Given the description of an element on the screen output the (x, y) to click on. 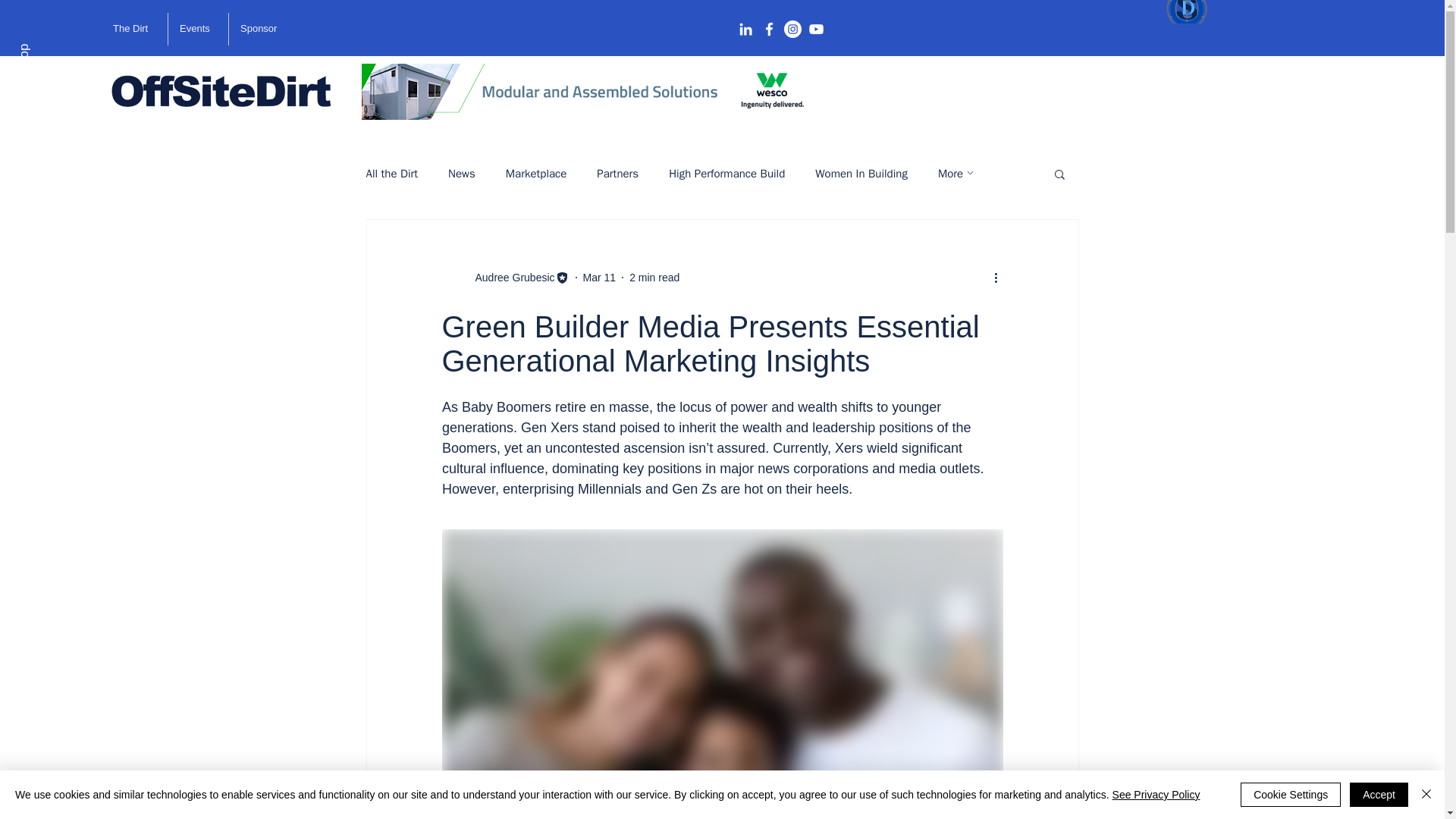
Sponsor (262, 29)
Events (198, 29)
2 min read (653, 277)
Partners (617, 173)
The Dirt (134, 29)
Audree Grubesic (509, 277)
Back to Top (50, 50)
Events (198, 29)
All the Dirt (391, 173)
The Dirt (134, 29)
